Given the description of an element on the screen output the (x, y) to click on. 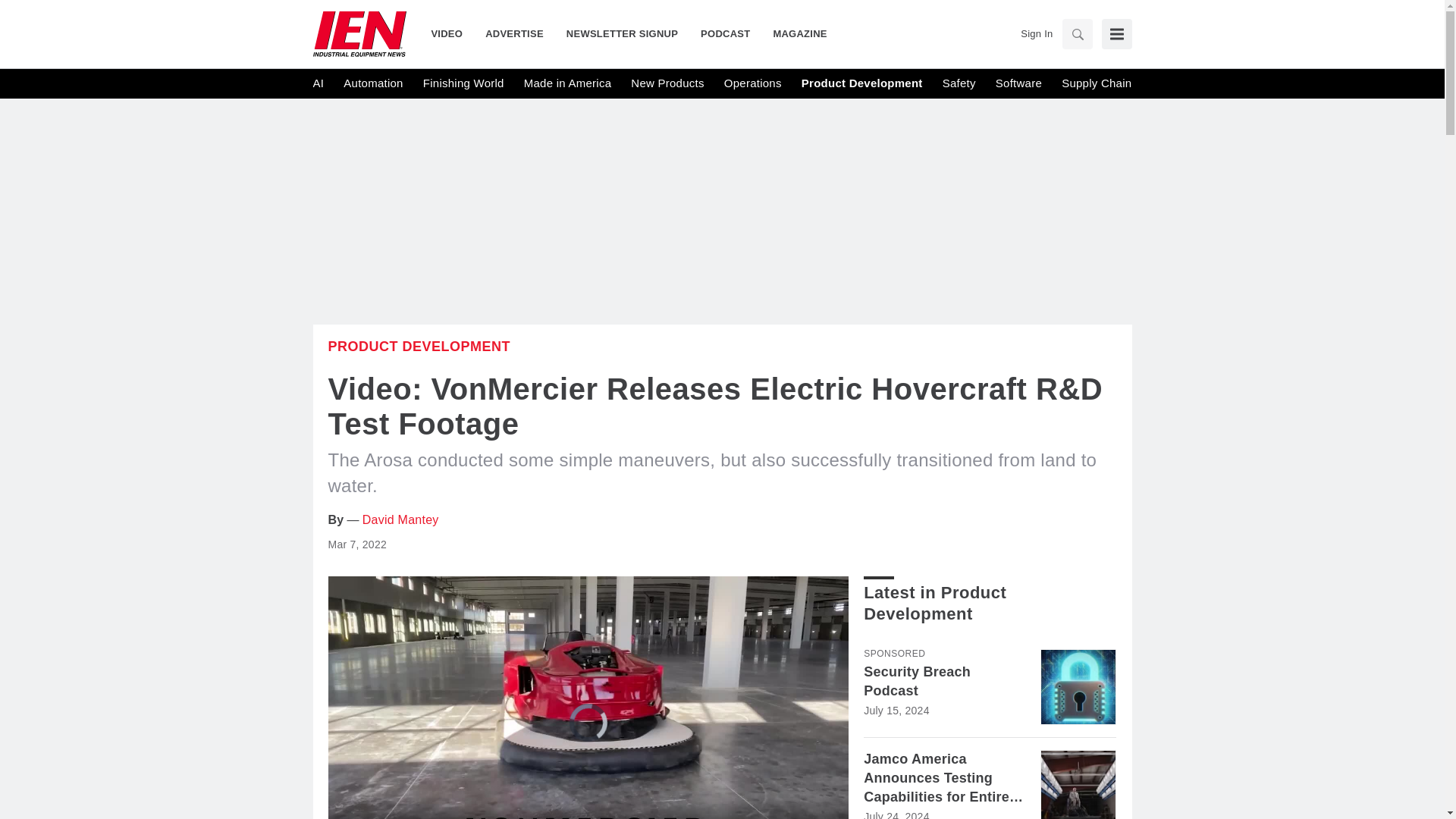
NEWSLETTER SIGNUP (621, 33)
Automation (373, 83)
Software (1018, 83)
New Products (666, 83)
PODCAST (724, 33)
Operations (752, 83)
Safety (958, 83)
VIDEO (452, 33)
ADVERTISE (514, 33)
Made in America (567, 83)
Sign In (1036, 33)
Product Development (862, 83)
Product Development (419, 346)
Finishing World (463, 83)
Supply Chain (1096, 83)
